Given the description of an element on the screen output the (x, y) to click on. 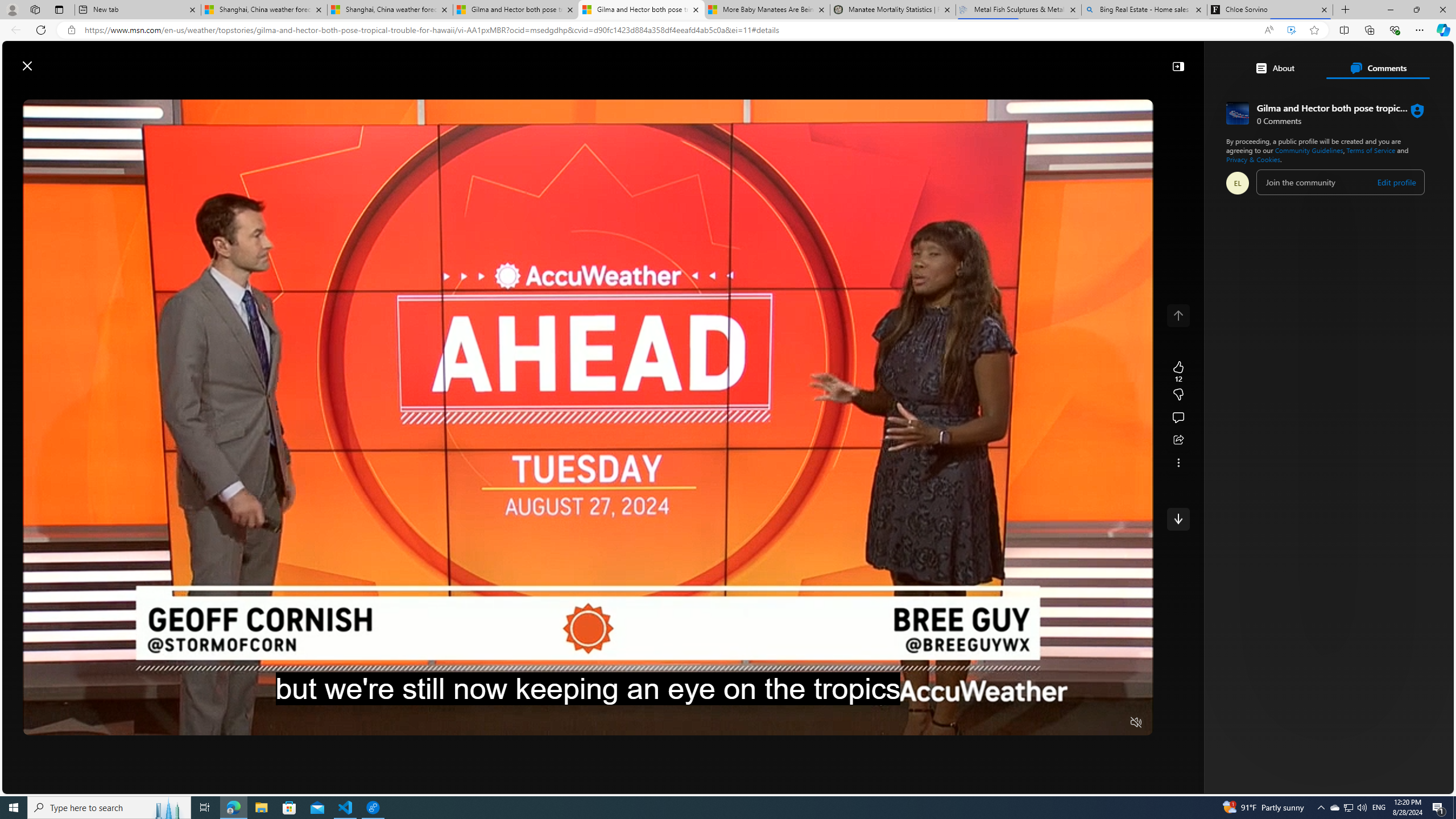
Unmute (1136, 722)
Chloe Sorvino (1270, 9)
Terms of Service (1371, 149)
Community Guidelines (1308, 149)
AutomationID: e5rZOEMGacU1 (1178, 518)
Income For Life Trading System (1232, 163)
